Given the description of an element on the screen output the (x, y) to click on. 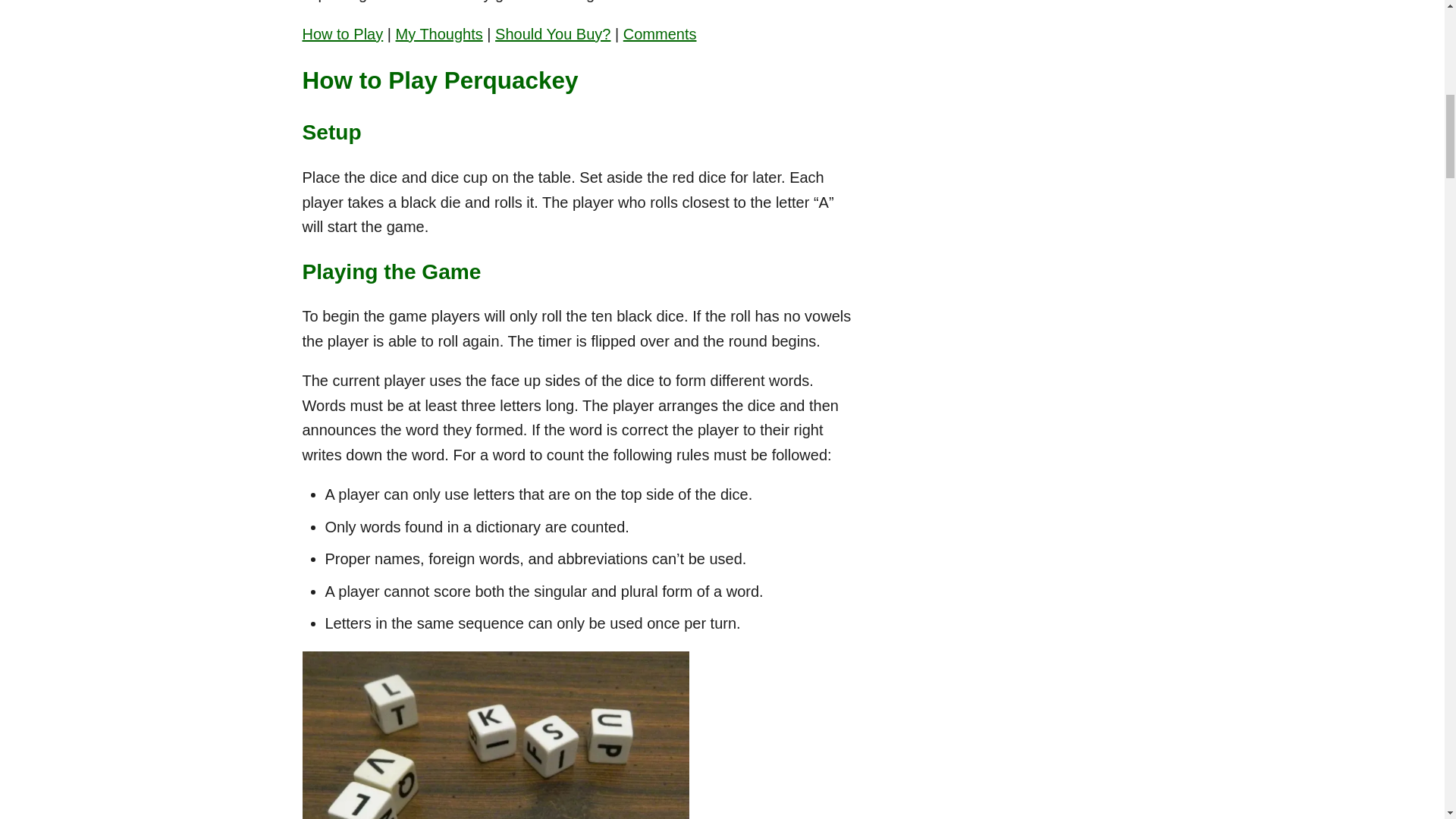
How to Play (341, 33)
My Thoughts (439, 33)
Comments (660, 33)
Should You Buy? (552, 33)
